Given the description of an element on the screen output the (x, y) to click on. 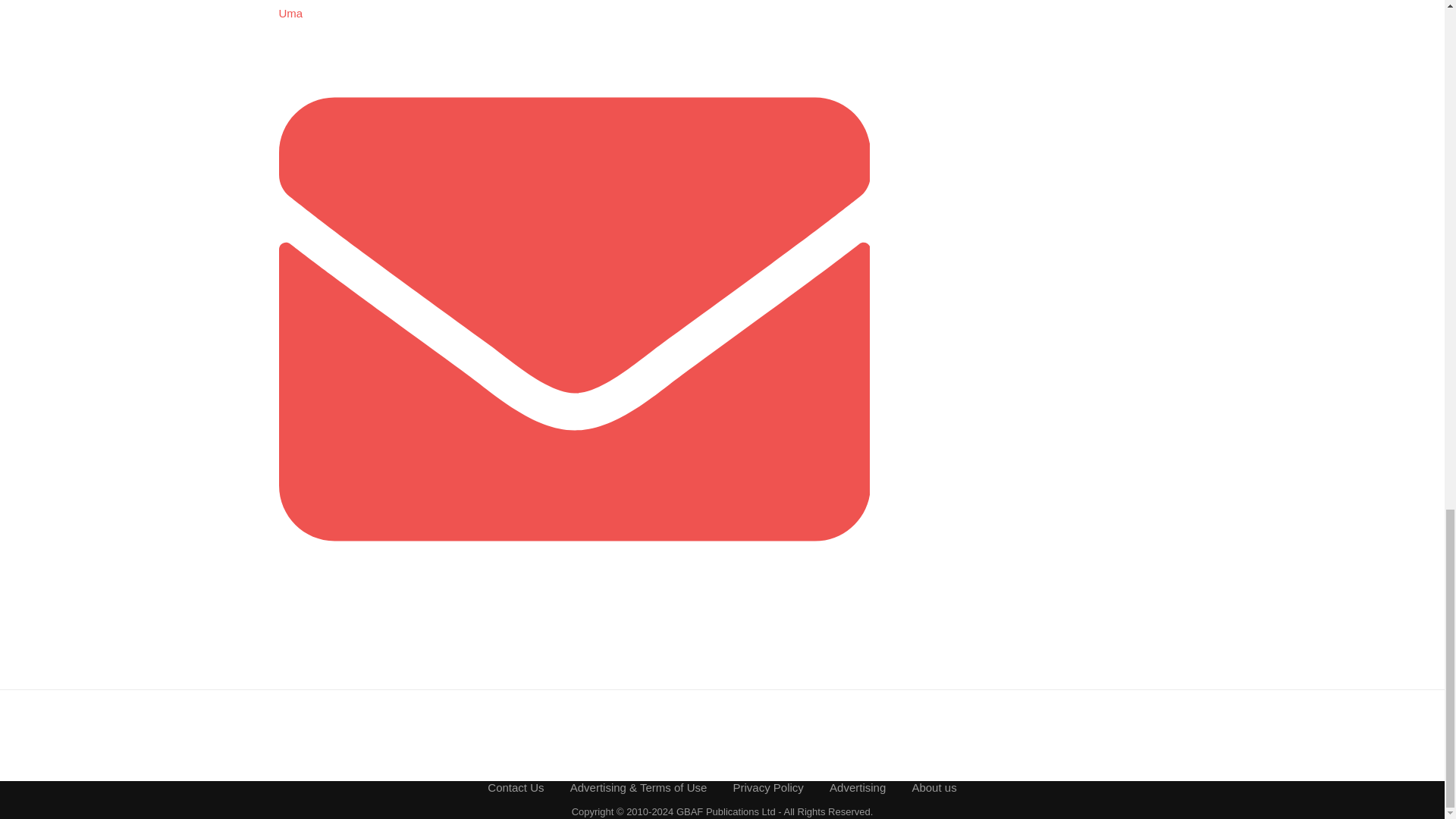
User email (574, 610)
Italy's Industry Ministry reports 'heavy' cyberattack (317, 1)
Uma (290, 12)
About us (933, 787)
Advertising (857, 787)
Privacy Policy (768, 787)
Contact Us (515, 787)
